Given the description of an element on the screen output the (x, y) to click on. 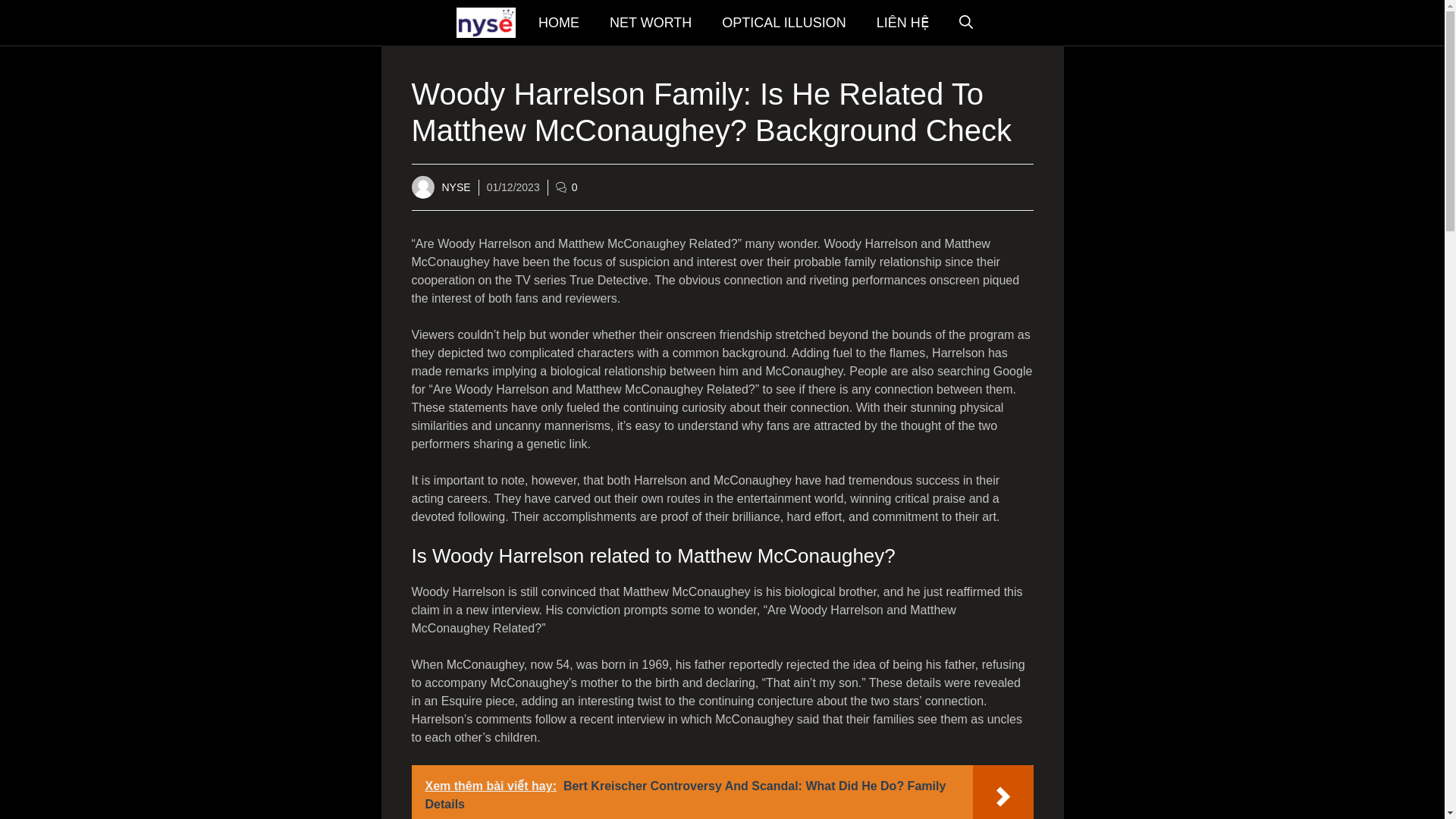
NYSE (455, 186)
Comprehensive English Academy NYSE (486, 22)
NET WORTH (650, 22)
OPTICAL ILLUSION (783, 22)
HOME (558, 22)
